Given the description of an element on the screen output the (x, y) to click on. 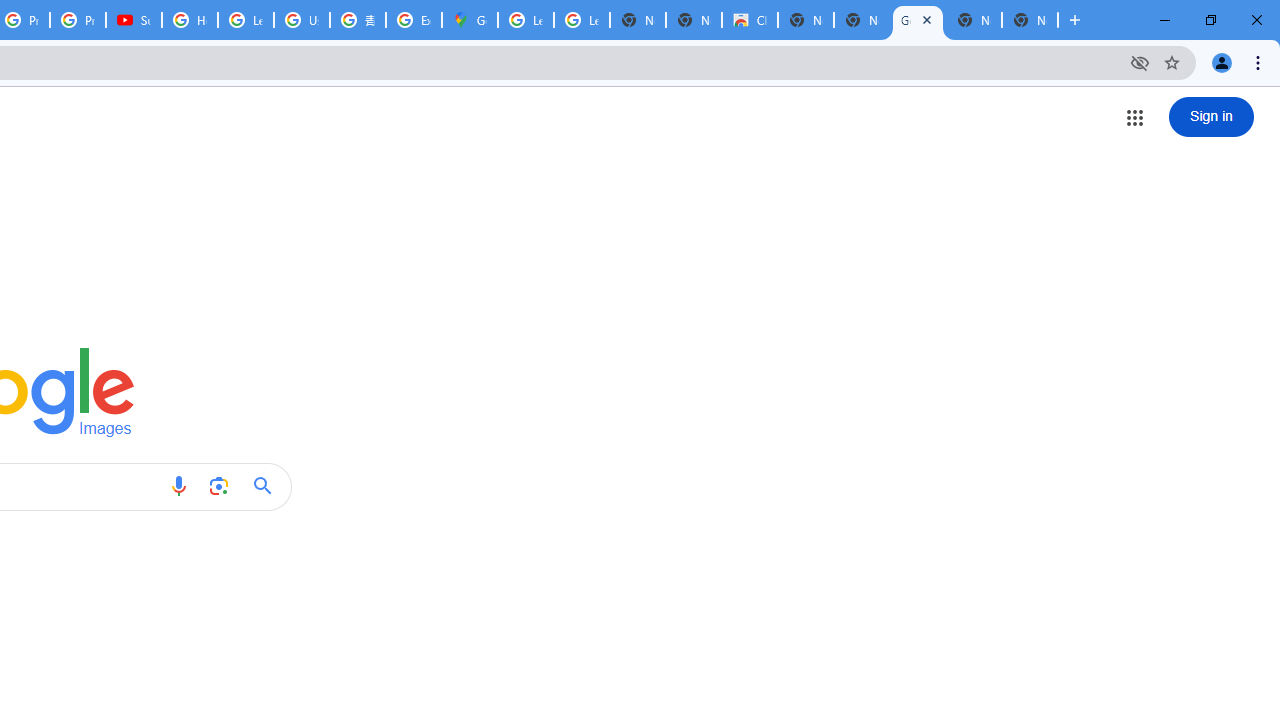
Google Images (917, 20)
Search by image (218, 485)
How Chrome protects your passwords - Google Chrome Help (189, 20)
Subscriptions - YouTube (134, 20)
Explore new street-level details - Google Maps Help (413, 20)
Chrome Web Store (749, 20)
